Given the description of an element on the screen output the (x, y) to click on. 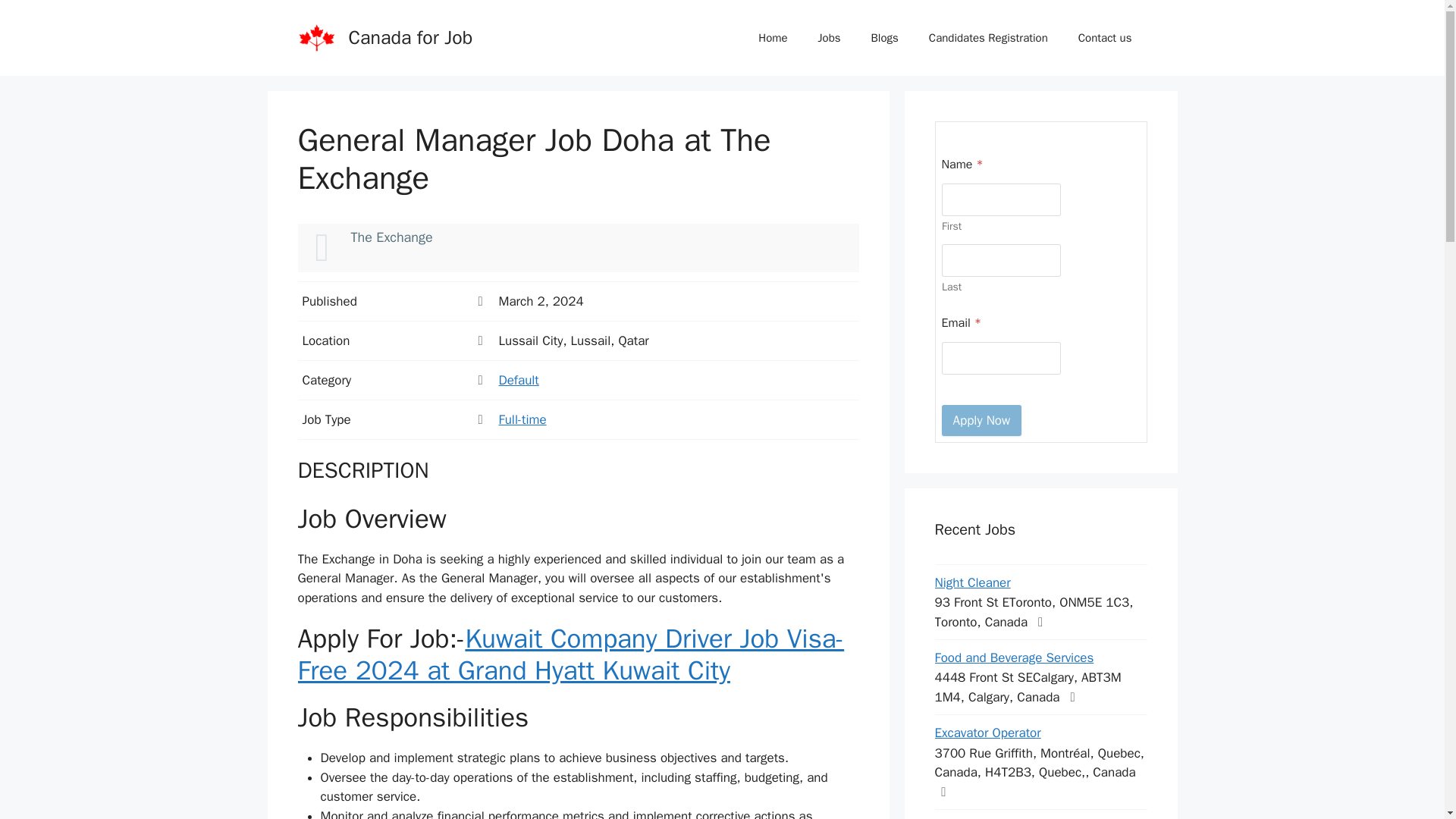
Full-time (523, 419)
Candidates Registration (988, 37)
Food and Beverage Services (1013, 657)
Contact us (1104, 37)
Excavator Operator (987, 732)
Home (772, 37)
Apply Now (982, 419)
Canada for Job (411, 37)
Night Cleaner (972, 582)
Default (518, 380)
Blogs (885, 37)
Jobs (829, 37)
